Given the description of an element on the screen output the (x, y) to click on. 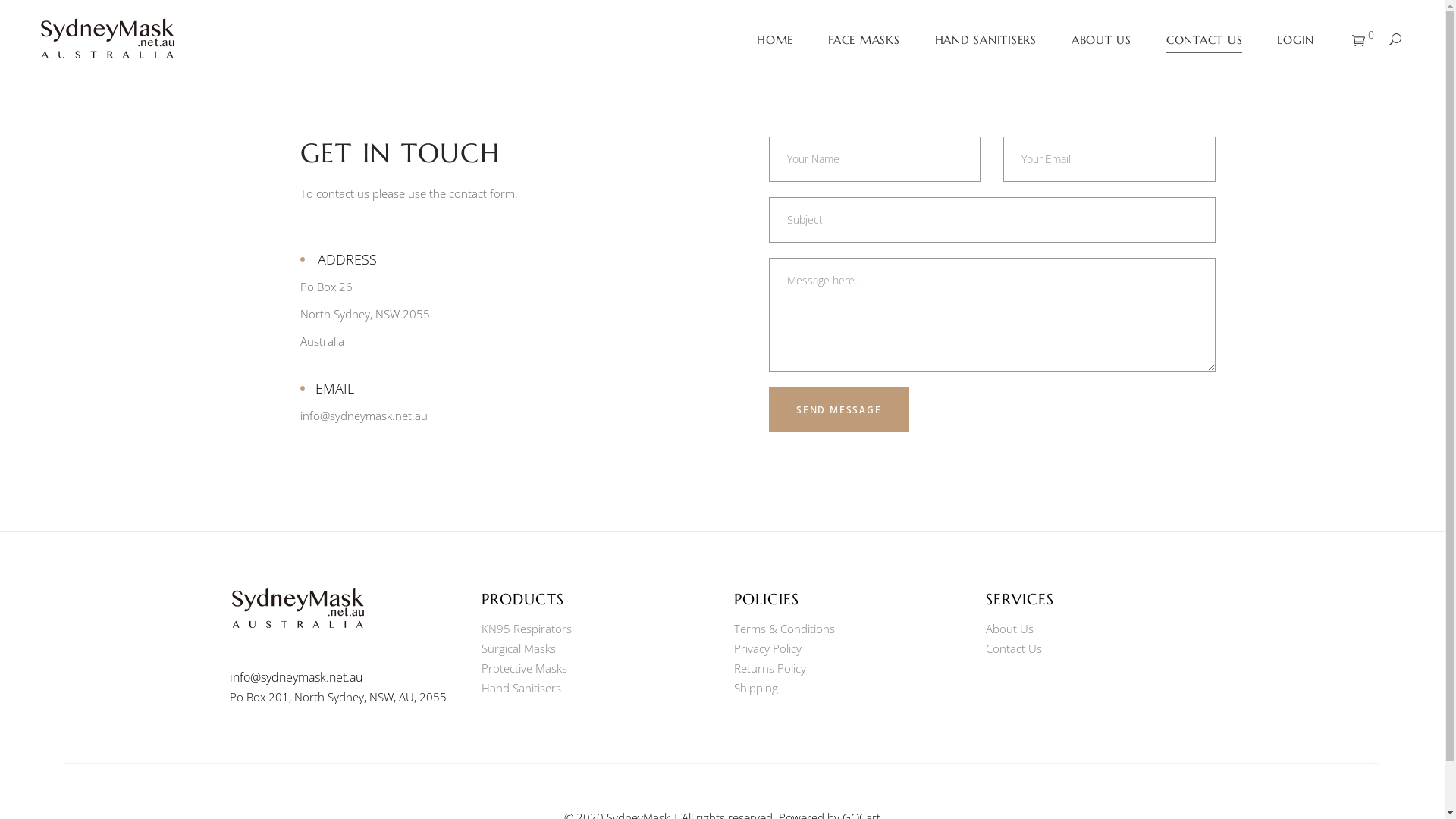
Shipping Element type: text (756, 687)
Terms & Conditions Element type: text (784, 628)
Returns Policy Element type: text (770, 667)
Contact Us Element type: text (1013, 647)
0 Element type: text (1363, 40)
Surgical Masks Element type: text (518, 647)
FACE MASKS Element type: text (863, 39)
CONTACT US Element type: text (1204, 39)
About Us Element type: text (1009, 628)
ABOUT US Element type: text (1101, 39)
info@sydneymask.net.au Element type: text (295, 676)
Hand Sanitisers Element type: text (521, 687)
LOGIN Element type: text (1295, 39)
HAND SANITISERS Element type: text (985, 39)
Send Message Element type: text (838, 409)
Privacy Policy Element type: text (767, 647)
HOME Element type: text (774, 39)
KN95 Respirators Element type: text (526, 628)
Protective Masks Element type: text (524, 667)
